Given the description of an element on the screen output the (x, y) to click on. 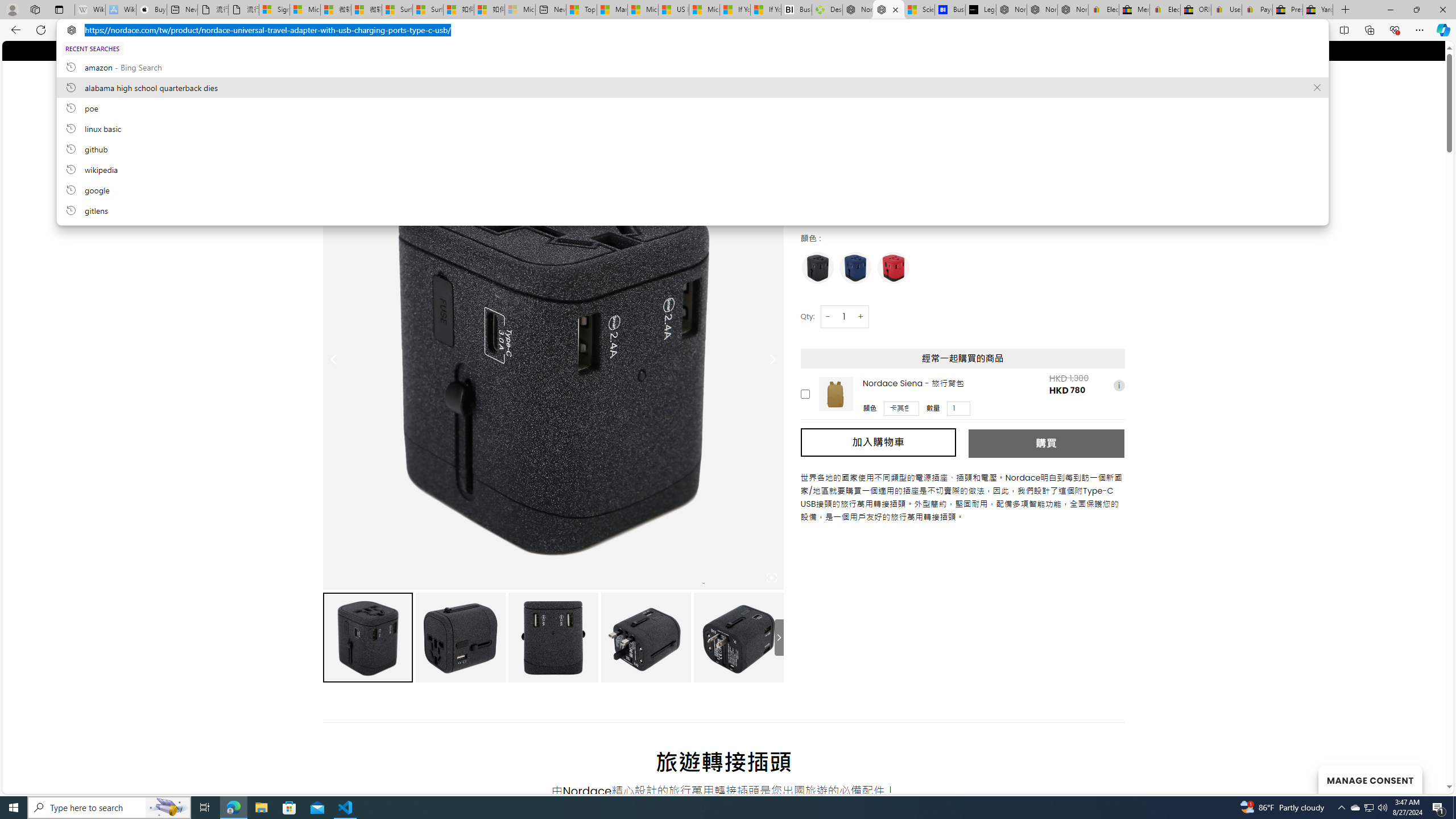
Buy iPad - Apple (151, 9)
Class: upsell-v2-product-upsell-variable-product-qty-select (958, 408)
Microsoft account | Account Checkup - Sleeping (519, 9)
Marine life - MSN (611, 9)
 0  (1115, 83)
Payments Terms of Use | eBay.com (1256, 9)
